Given the description of an element on the screen output the (x, y) to click on. 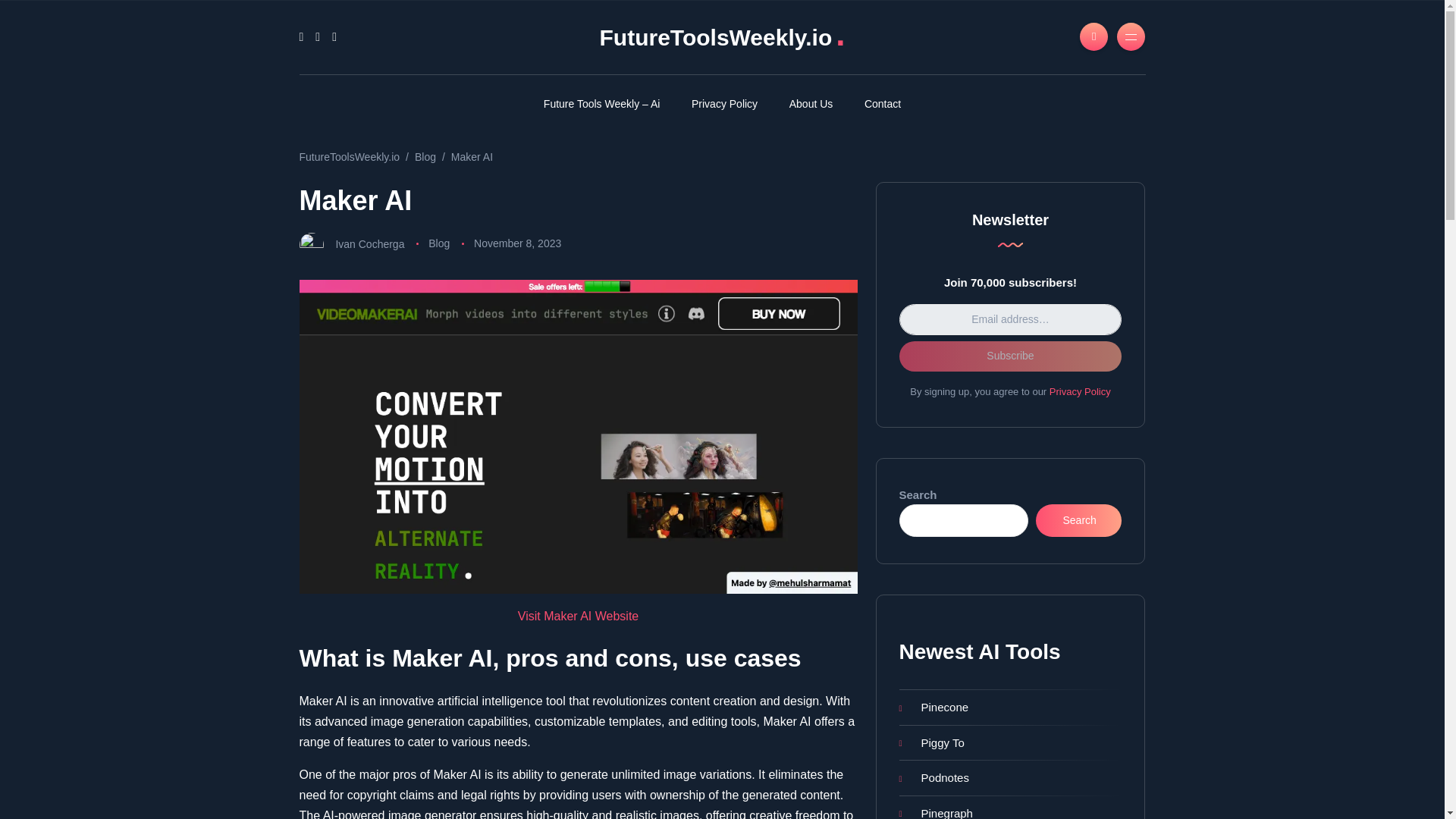
Visit Maker AI Website (578, 615)
Contact (882, 103)
Privacy Policy (724, 103)
Ivan Cocherga (369, 243)
FutureToolsWeekly.io. (721, 37)
About Us (810, 103)
Blog (438, 243)
FutureToolsWeekly.io (348, 156)
Go to the Blog Category archives. (424, 156)
Posts by Ivan Cocherga (369, 243)
